Given the description of an element on the screen output the (x, y) to click on. 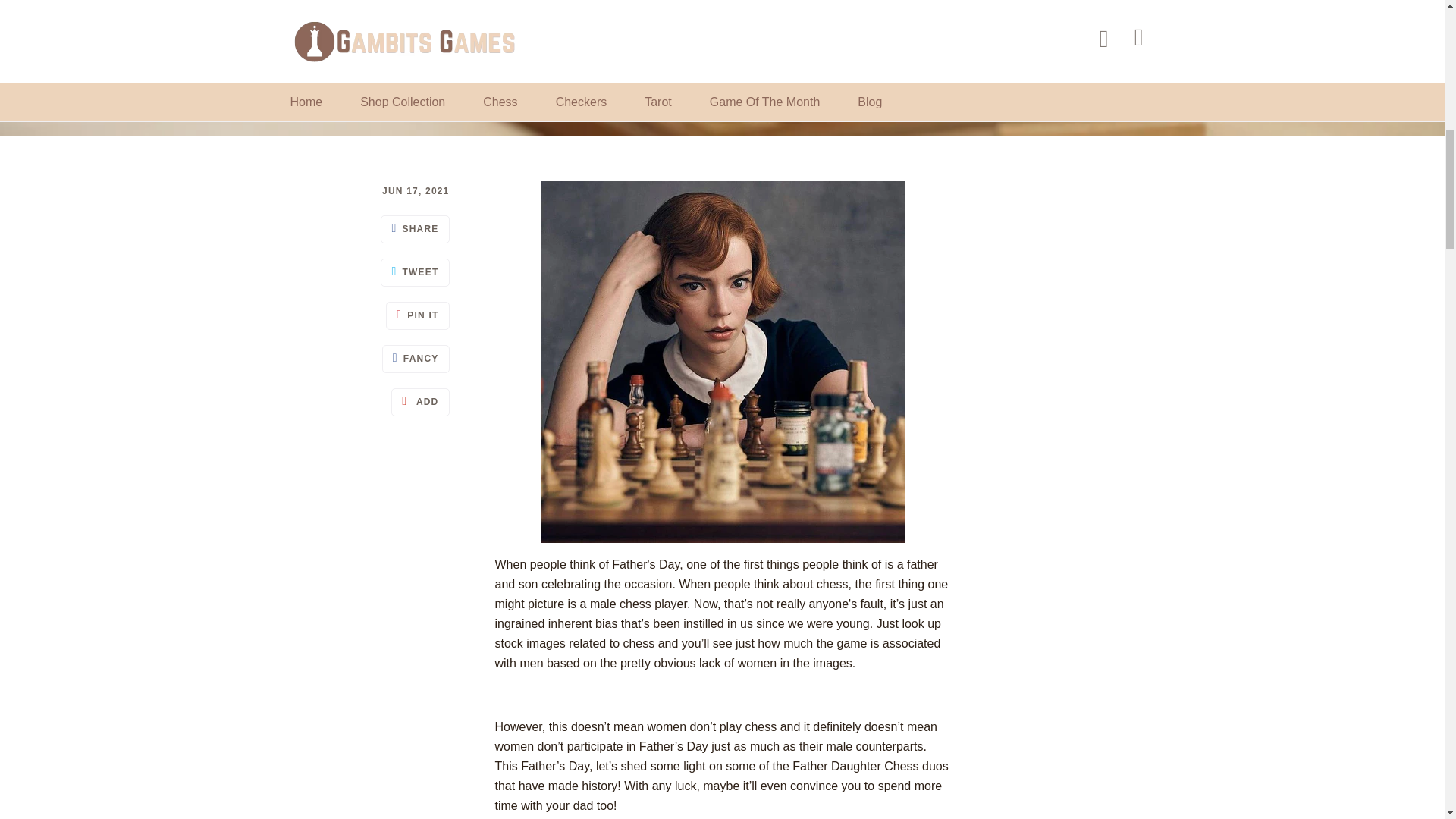
ADD (419, 402)
FANCY (415, 358)
SHARE (414, 229)
PIN IT (416, 316)
TWEET (414, 272)
